Given the description of an element on the screen output the (x, y) to click on. 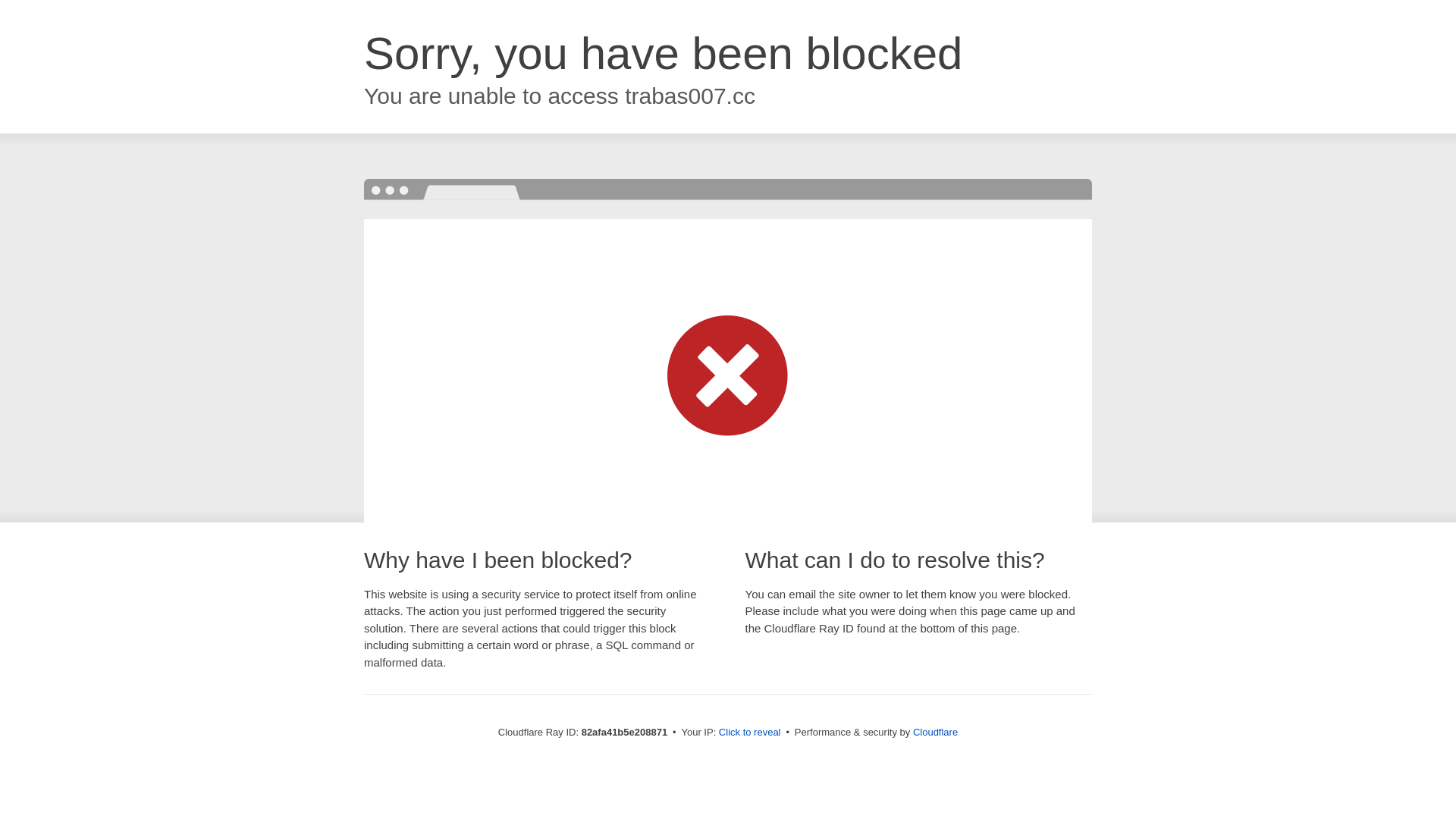
Cloudflare Element type: text (935, 731)
Click to reveal Element type: text (749, 732)
